Given the description of an element on the screen output the (x, y) to click on. 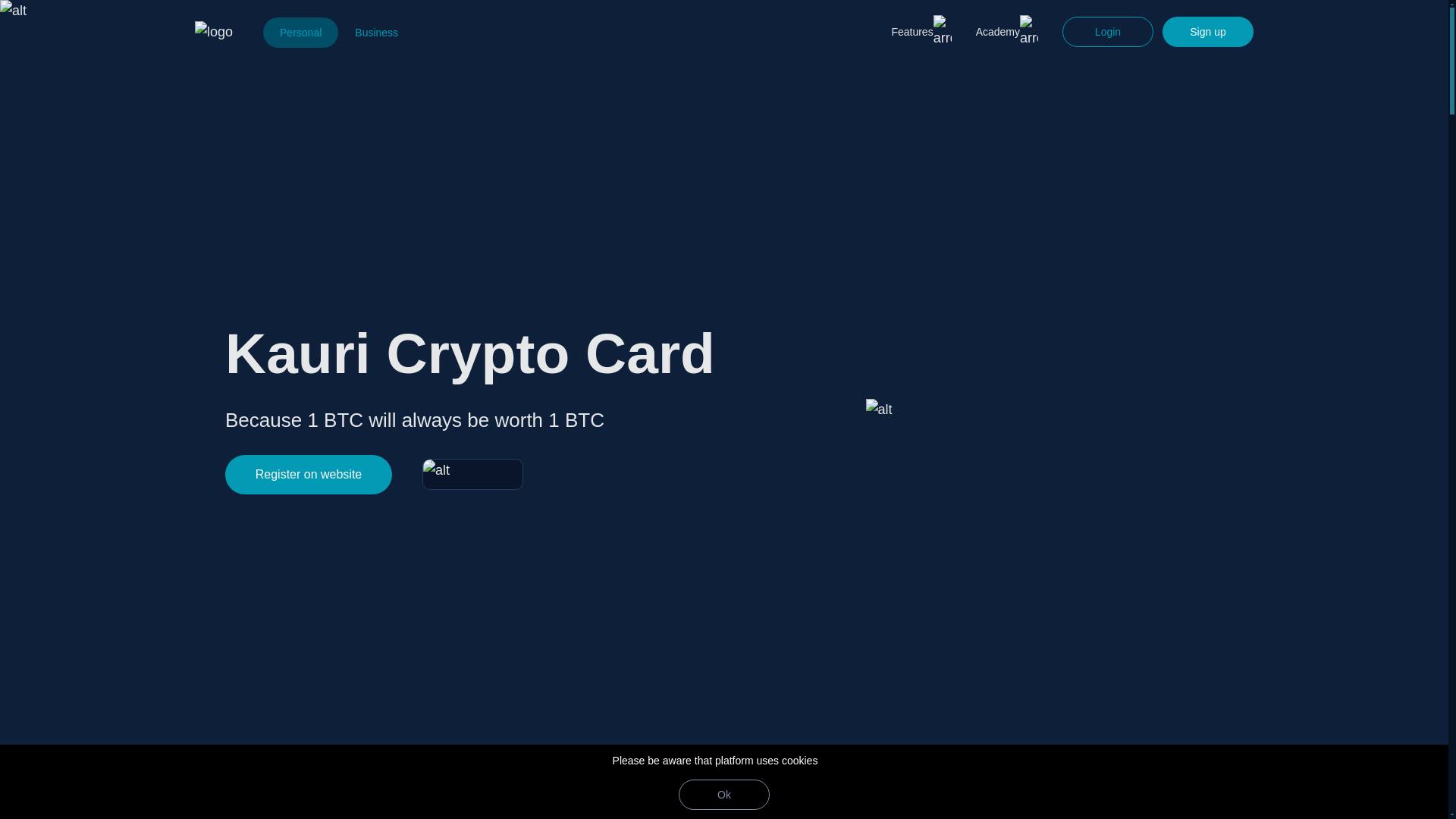
Business (375, 32)
Personal (300, 32)
Register on website (308, 474)
Sign up (1207, 31)
Login (1107, 31)
